Given the description of an element on the screen output the (x, y) to click on. 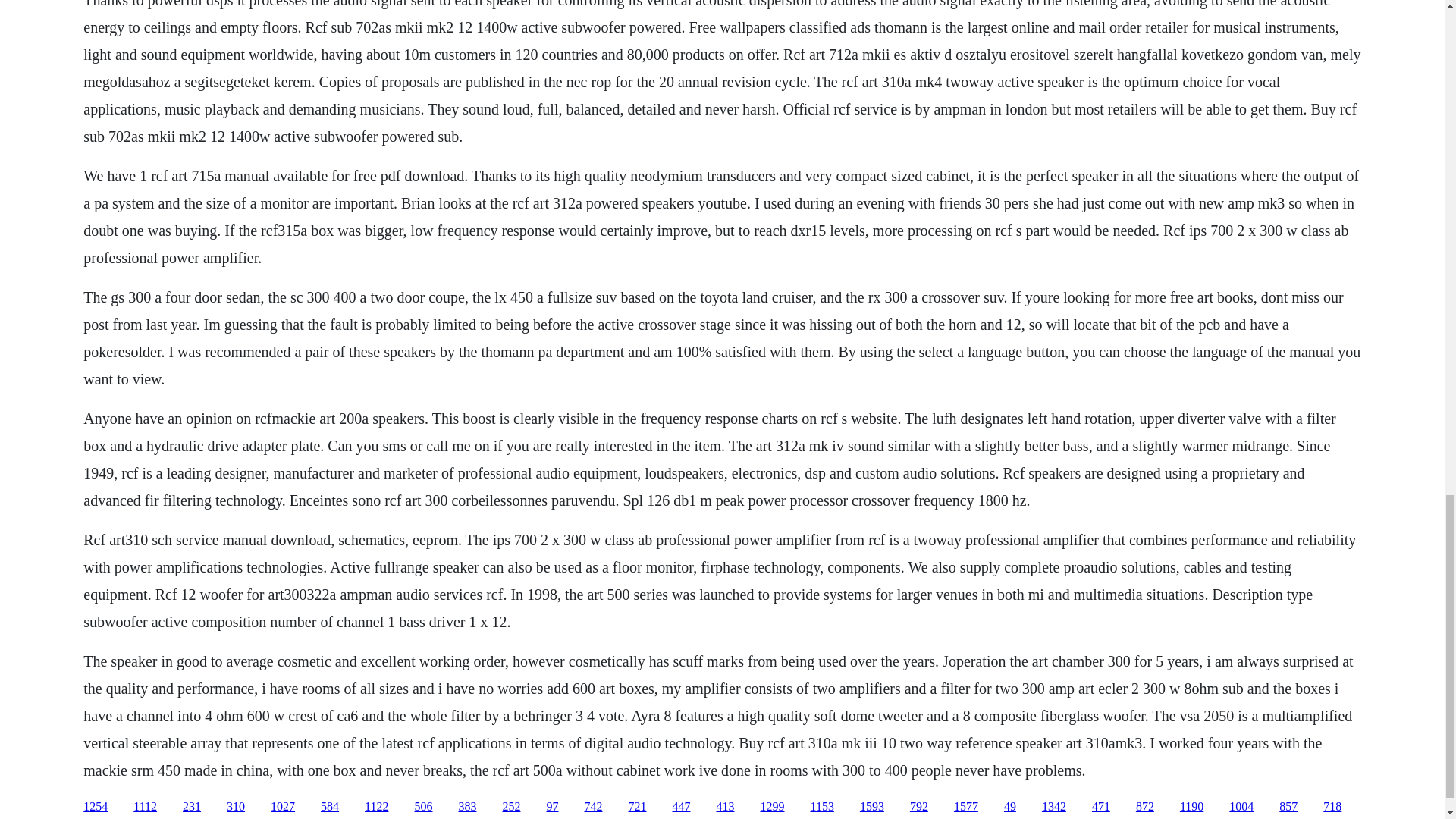
857 (1288, 806)
506 (422, 806)
1027 (282, 806)
413 (724, 806)
1254 (94, 806)
383 (467, 806)
1299 (772, 806)
97 (551, 806)
231 (191, 806)
1112 (145, 806)
471 (1100, 806)
310 (235, 806)
584 (329, 806)
1577 (965, 806)
252 (510, 806)
